Given the description of an element on the screen output the (x, y) to click on. 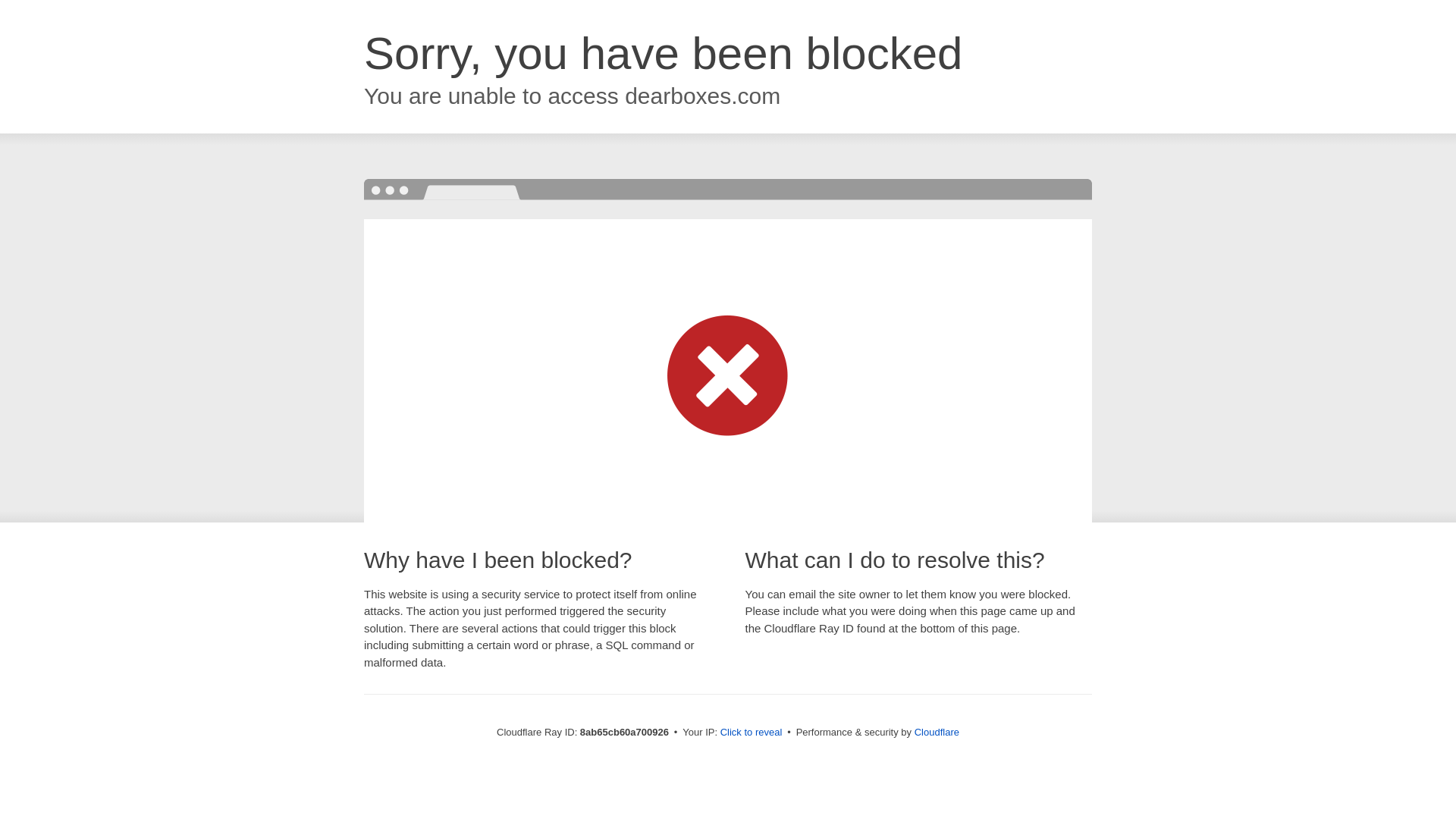
Click to reveal (751, 732)
Cloudflare (936, 731)
